Given the description of an element on the screen output the (x, y) to click on. 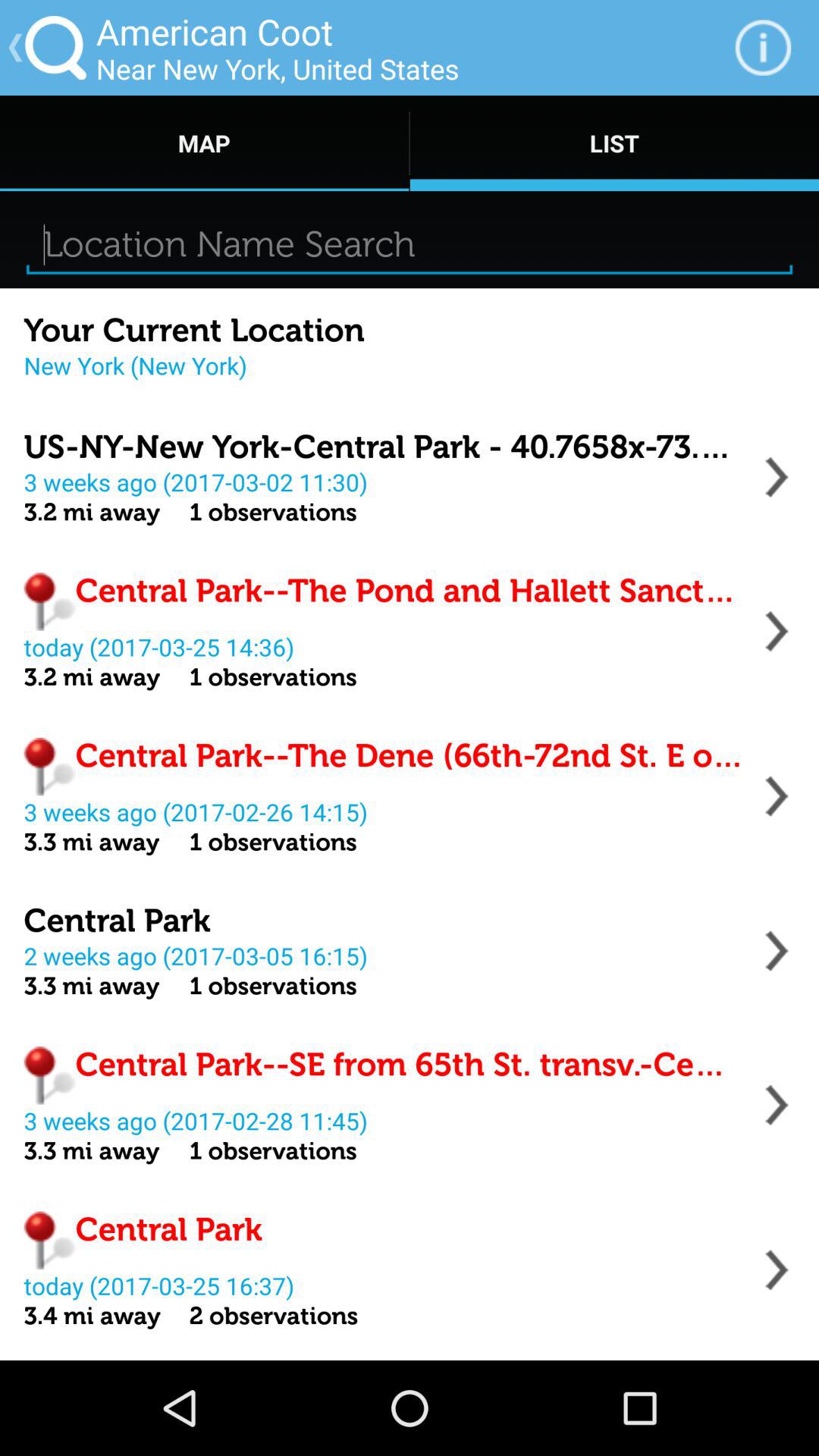
show listing map (776, 631)
